Given the description of an element on the screen output the (x, y) to click on. 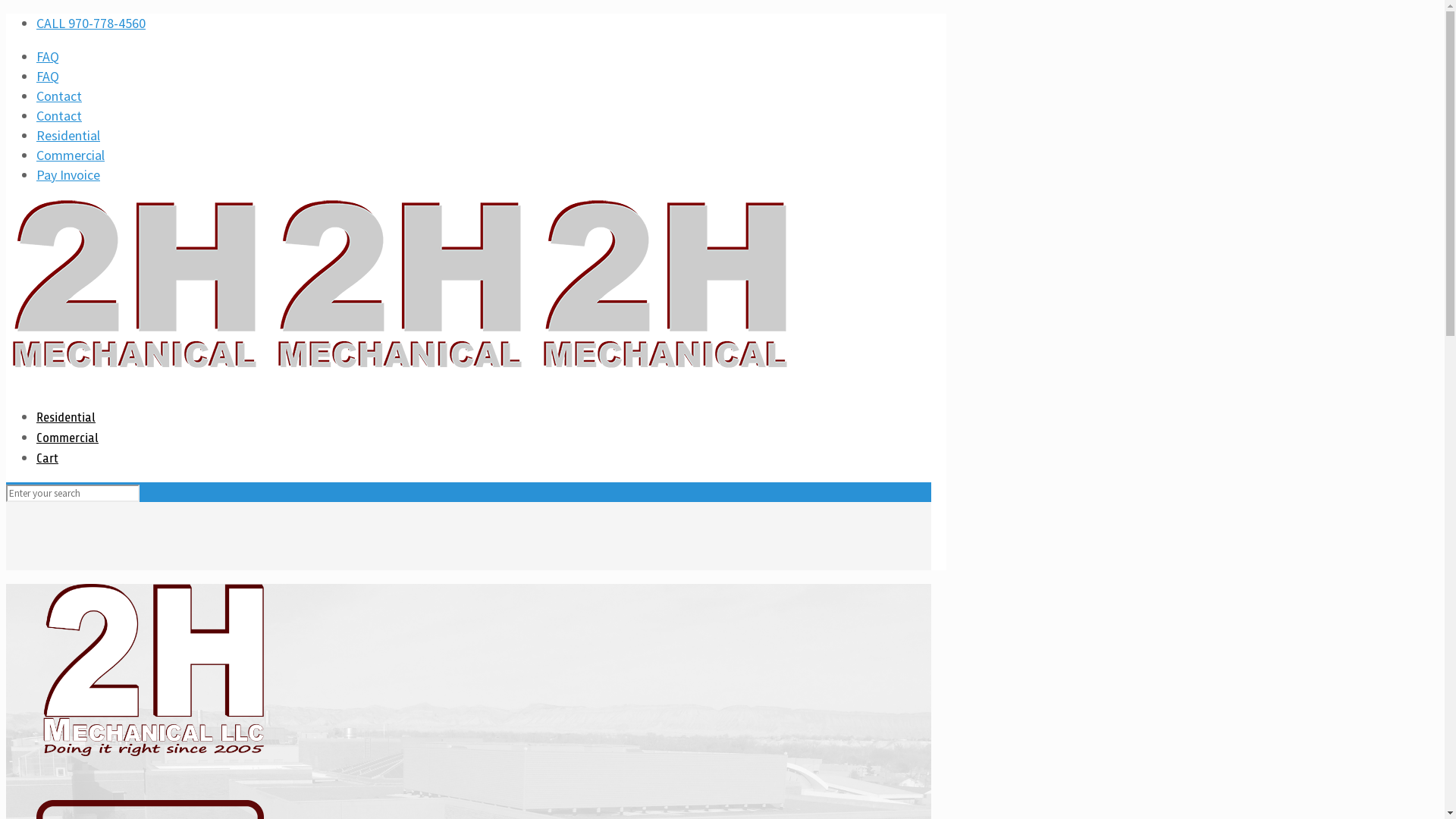
Residential Element type: text (65, 417)
Cart Element type: text (47, 458)
Contact Element type: text (58, 95)
Pay Invoice Element type: text (68, 174)
FAQ Element type: text (47, 75)
Commercial Element type: text (67, 437)
Commercial Element type: text (70, 154)
2HMechanical LLC Element type: hover (404, 370)
Residential Element type: text (68, 135)
Contact Element type: text (58, 115)
CALL 970-778-4560 Element type: text (90, 22)
FAQ Element type: text (47, 56)
